Given the description of an element on the screen output the (x, y) to click on. 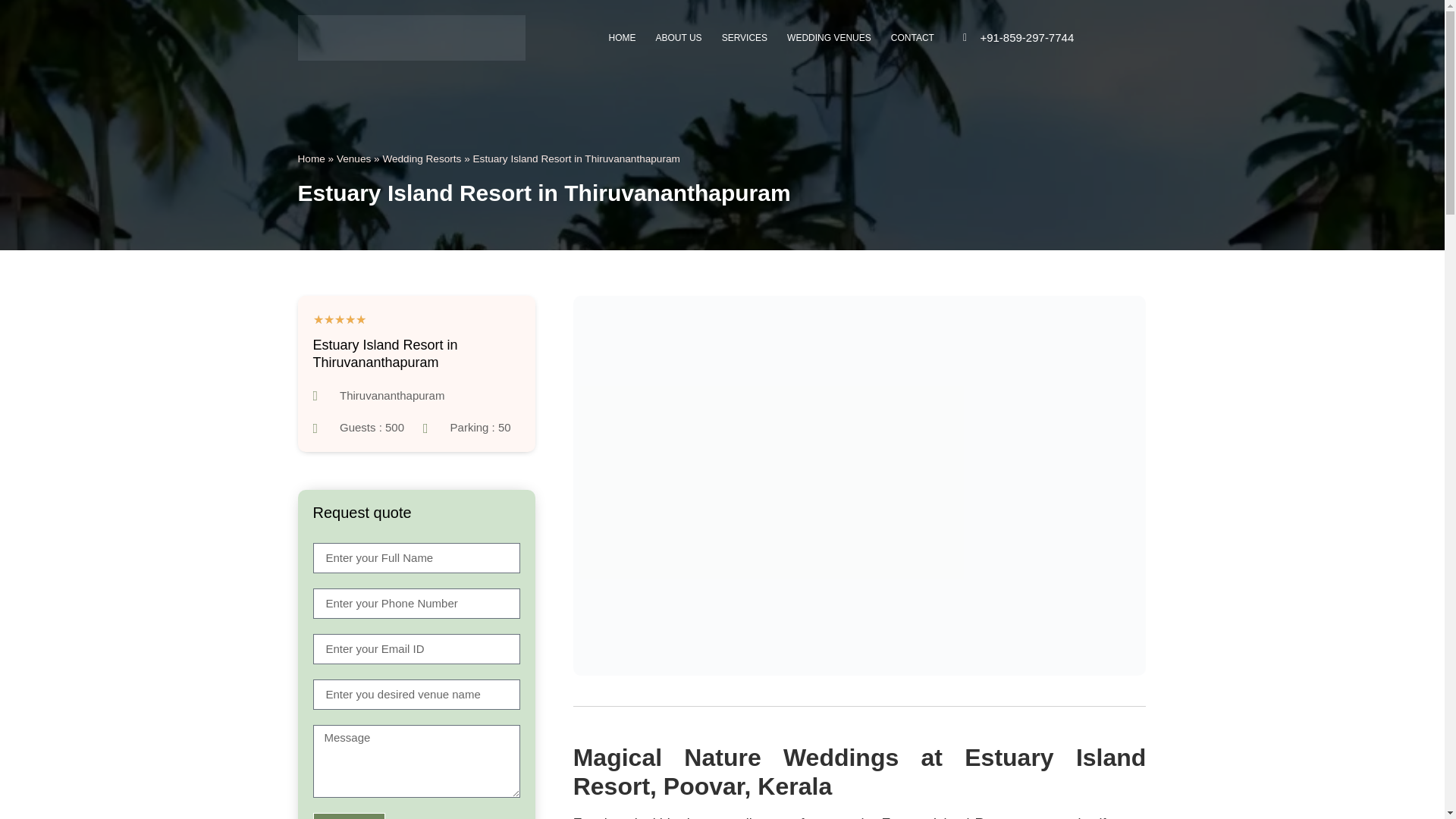
SERVICES (744, 37)
CONTACT (911, 37)
WEDDING VENUES (828, 37)
HOME (622, 37)
ABOUT US (678, 37)
